Given the description of an element on the screen output the (x, y) to click on. 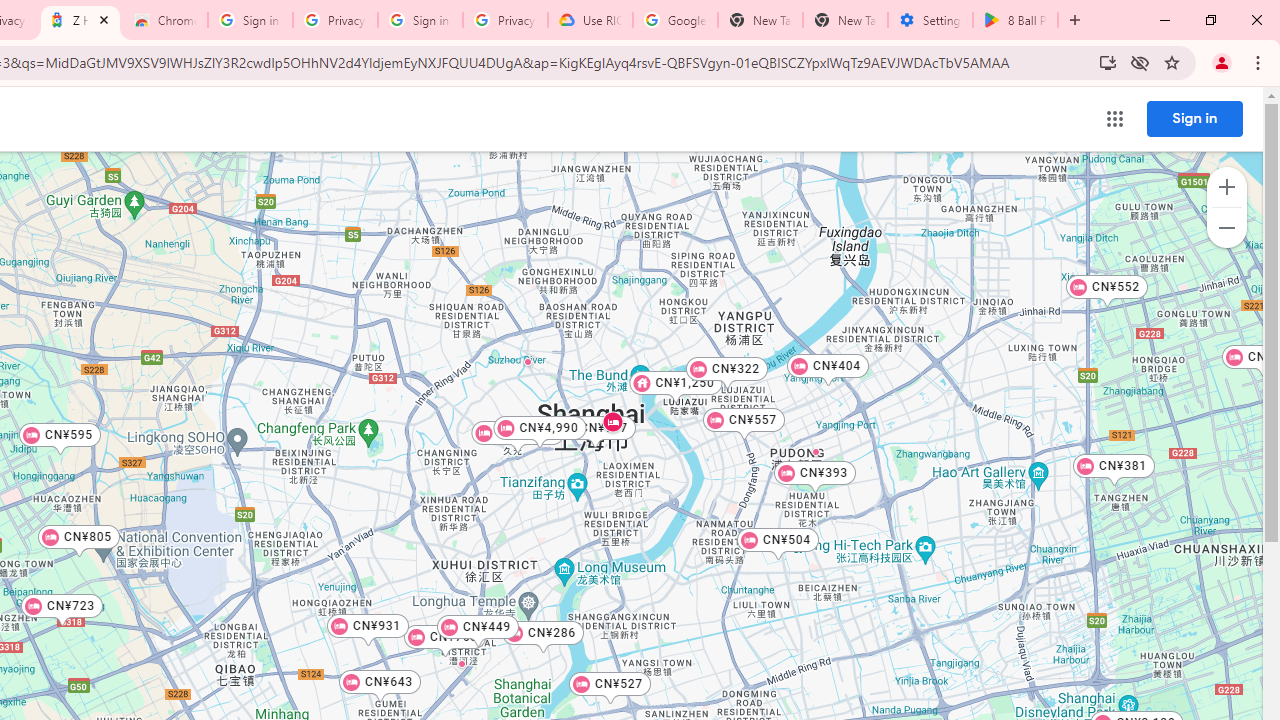
Chrome Web Store - Color themes by Chrome (165, 20)
Z Hotel - Google hotels (80, 20)
Settings - System (930, 20)
